Given the description of an element on the screen output the (x, y) to click on. 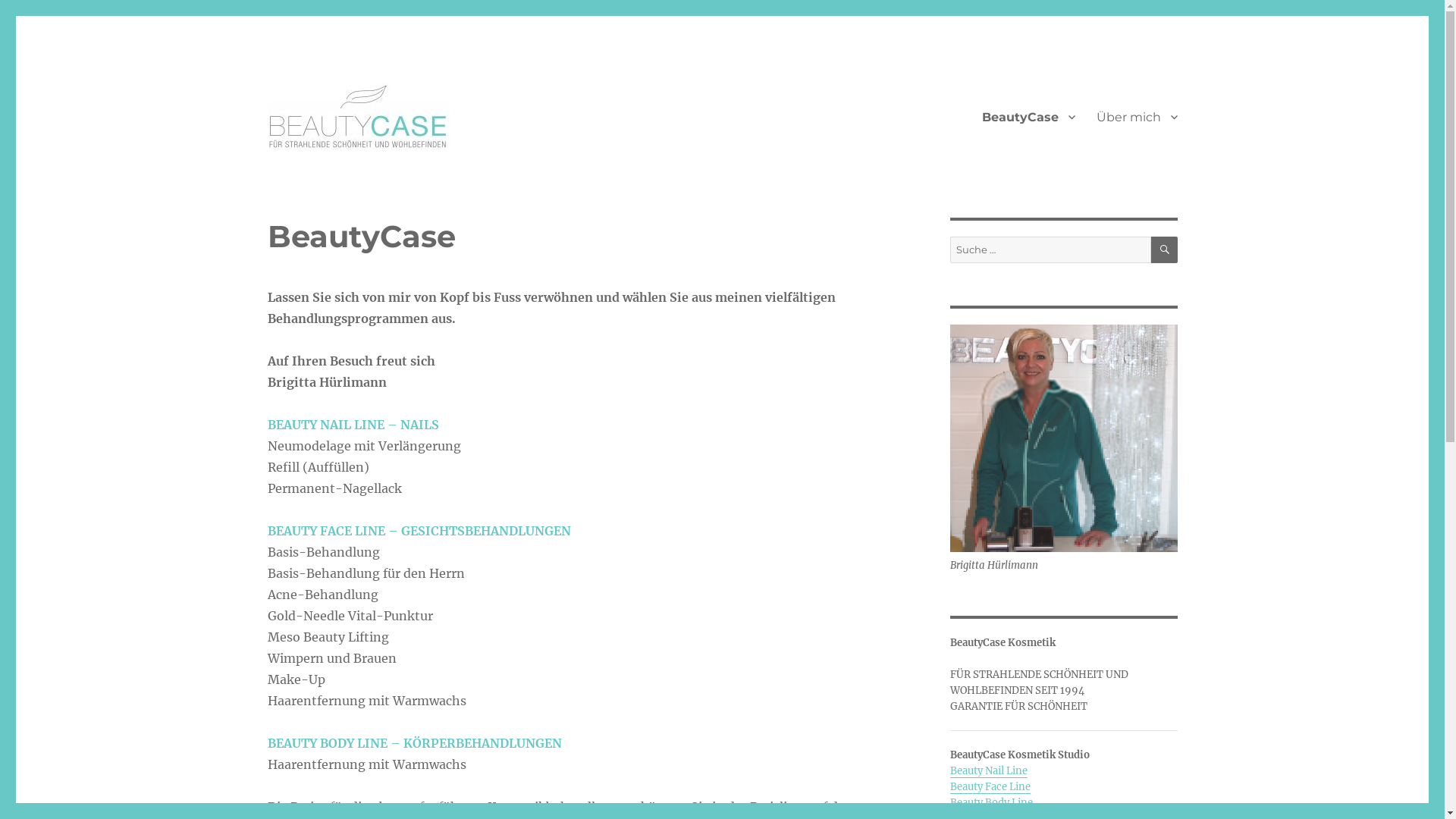
Beauty Face Line Element type: text (989, 786)
SUCHEN Element type: text (1164, 249)
BeautyCase Element type: text (1027, 116)
Beauty Nail Line Element type: text (987, 770)
Beauty Case Kosmetik Studio Element type: text (429, 173)
Beauty Body Line Element type: text (990, 802)
